Given the description of an element on the screen output the (x, y) to click on. 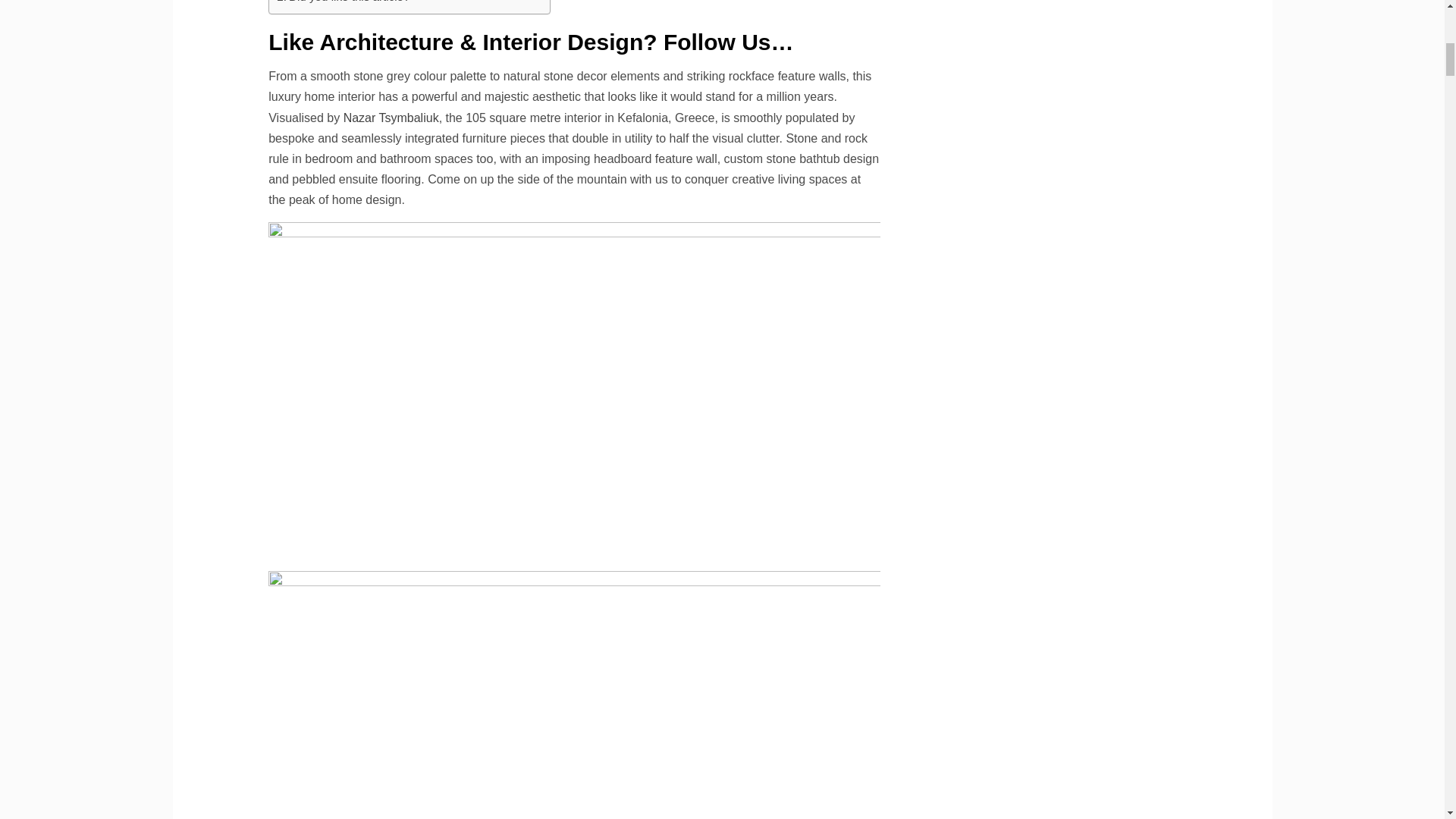
Did you like this article? (342, 2)
Did you like this article? (342, 2)
Nazar Tsymbaliuk (391, 117)
